Given the description of an element on the screen output the (x, y) to click on. 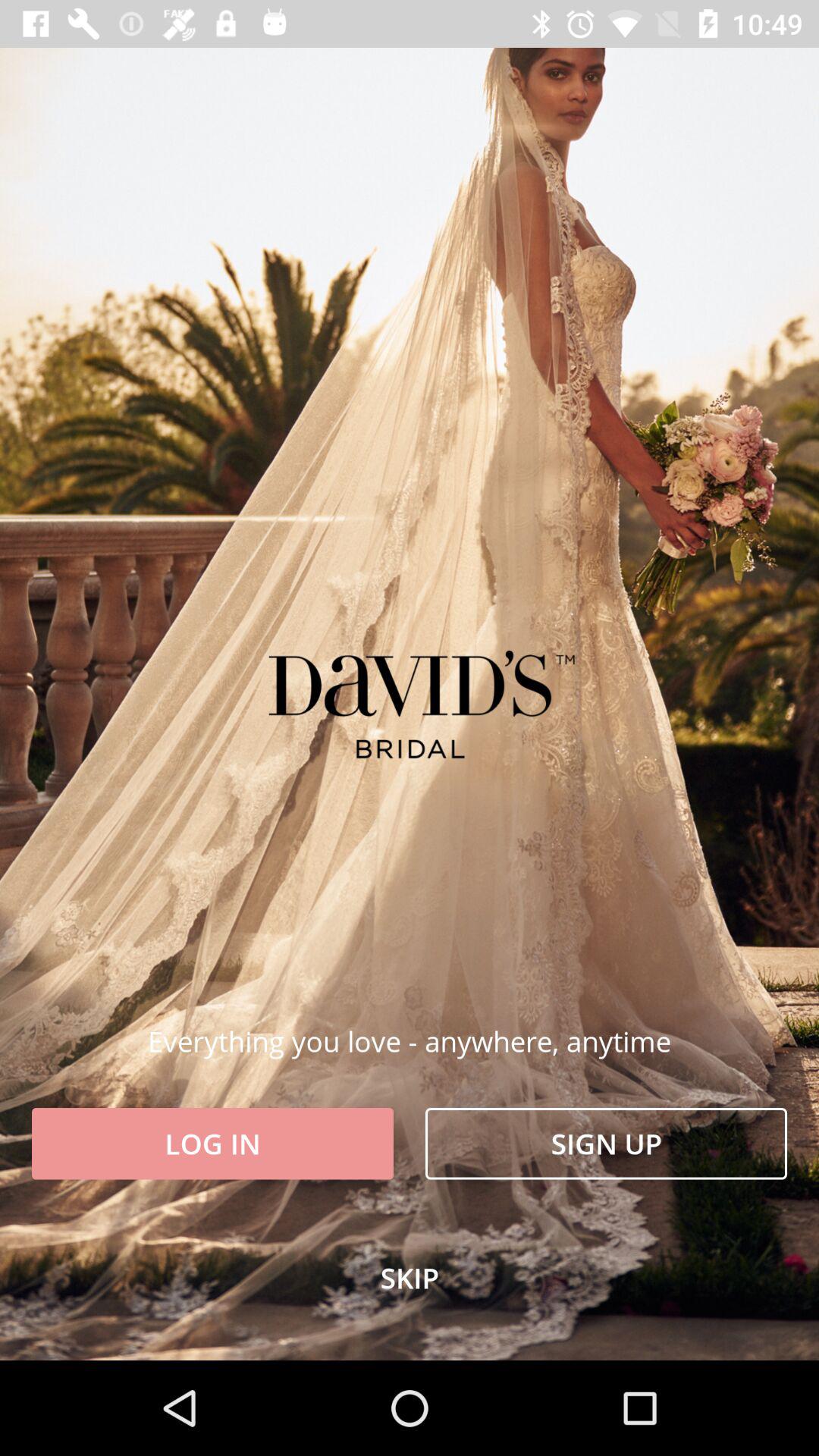
press log in at the bottom left corner (212, 1143)
